Given the description of an element on the screen output the (x, y) to click on. 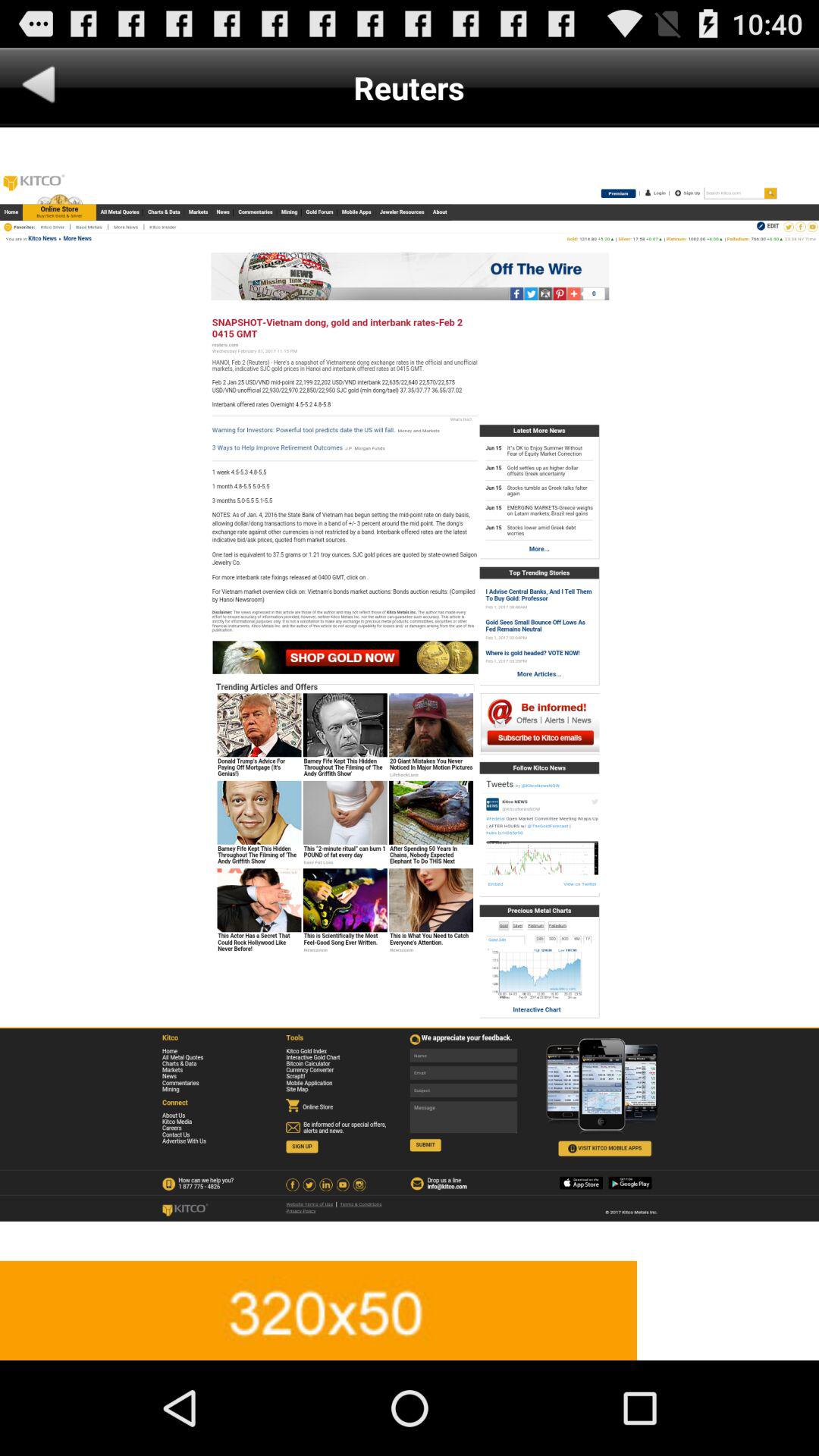
go back (39, 87)
